Given the description of an element on the screen output the (x, y) to click on. 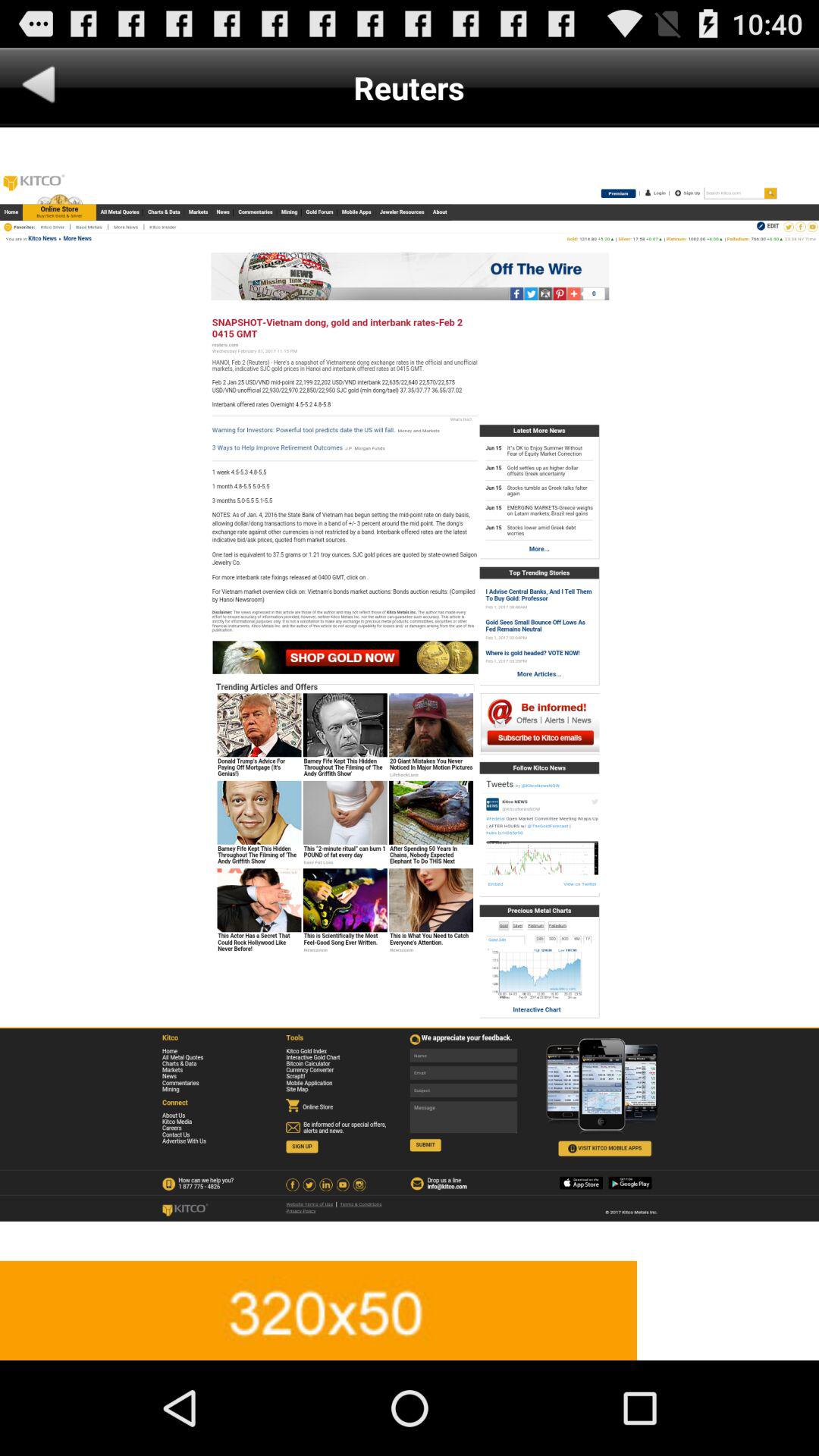
go back (39, 87)
